Given the description of an element on the screen output the (x, y) to click on. 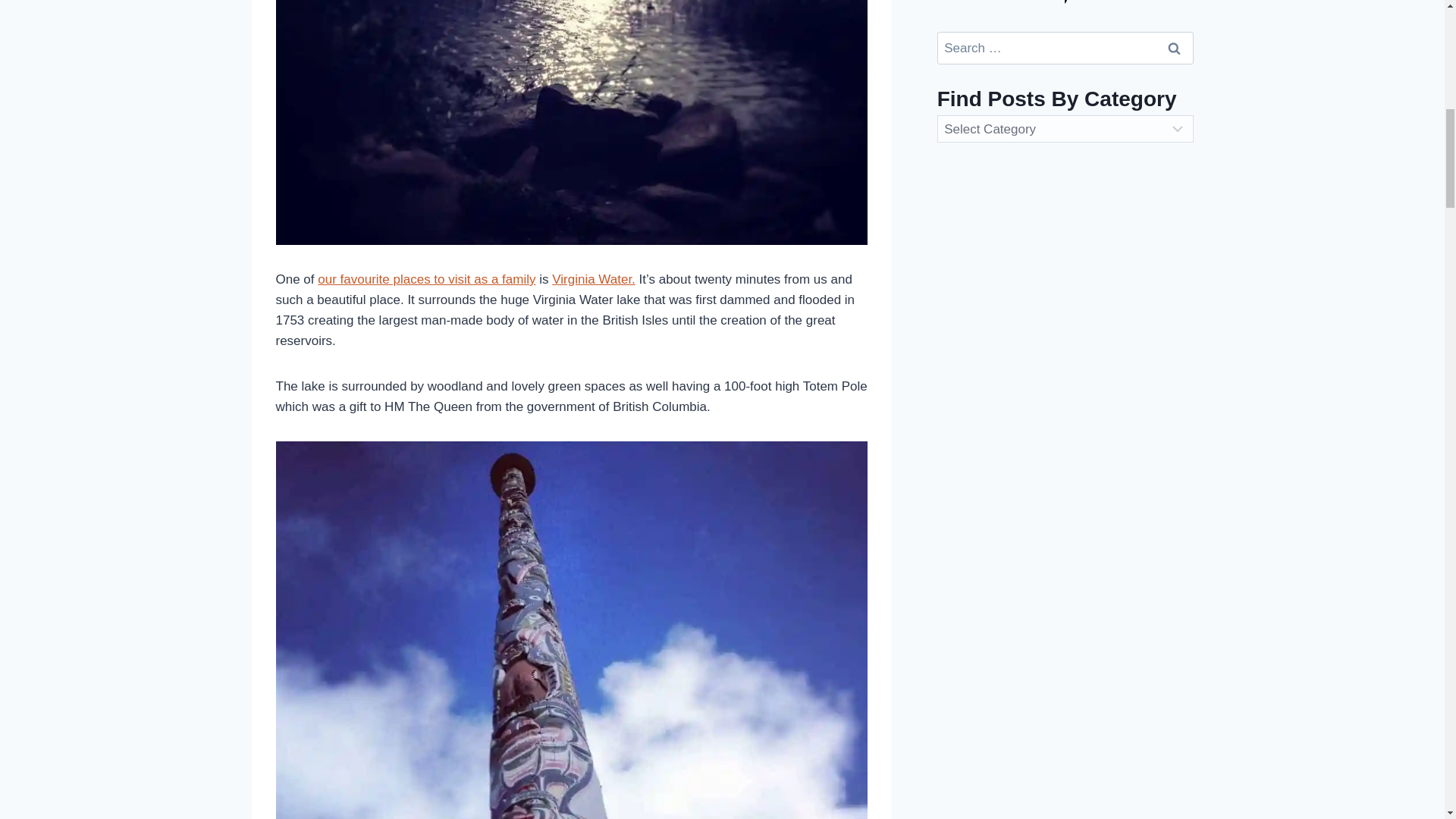
Search (1174, 47)
Virginia Water. (592, 278)
Search (1174, 47)
our favourite places to visit as a family (426, 278)
